Given the description of an element on the screen output the (x, y) to click on. 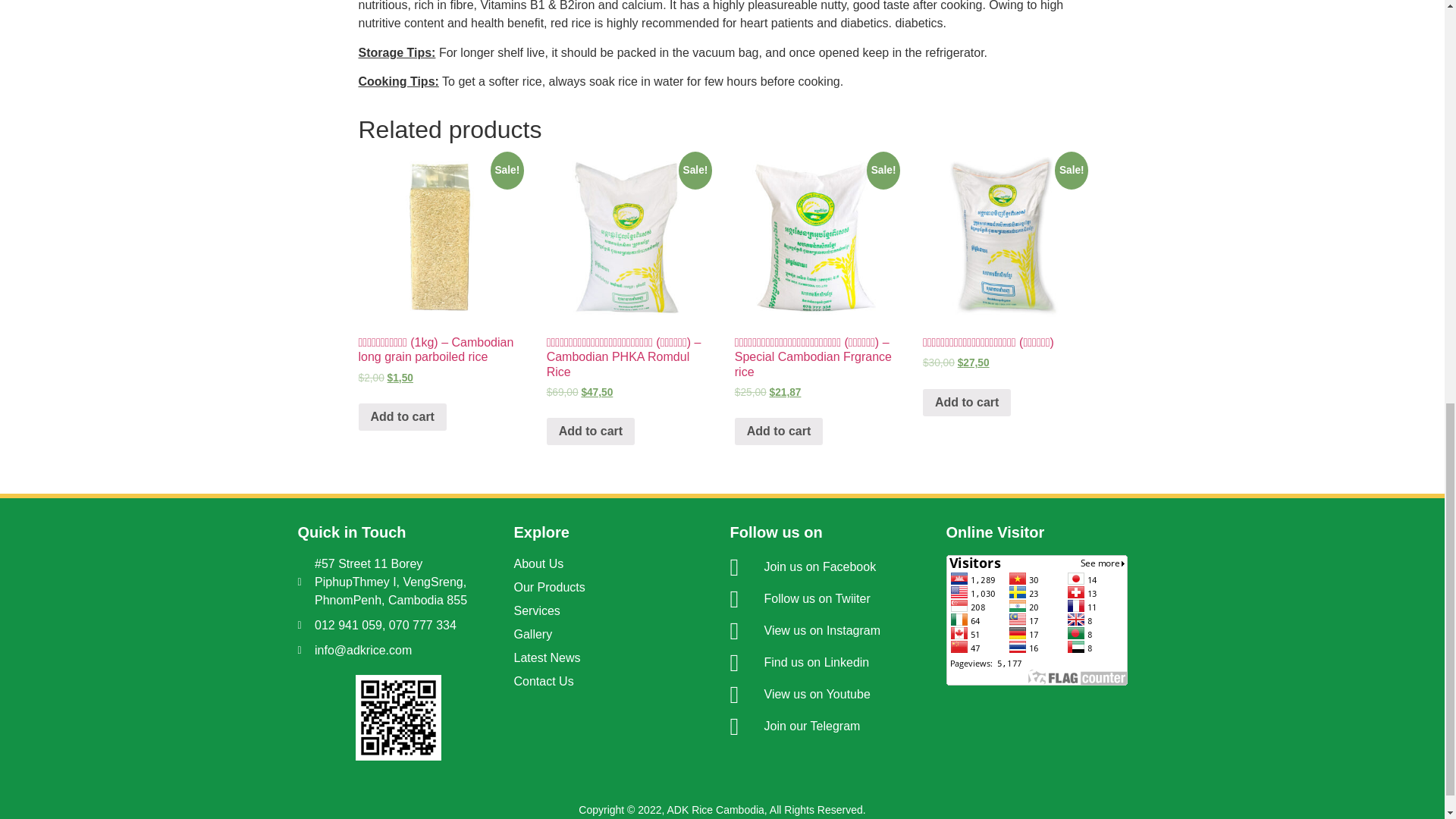
Add to cart (401, 416)
Add to cart (590, 431)
